Given the description of an element on the screen output the (x, y) to click on. 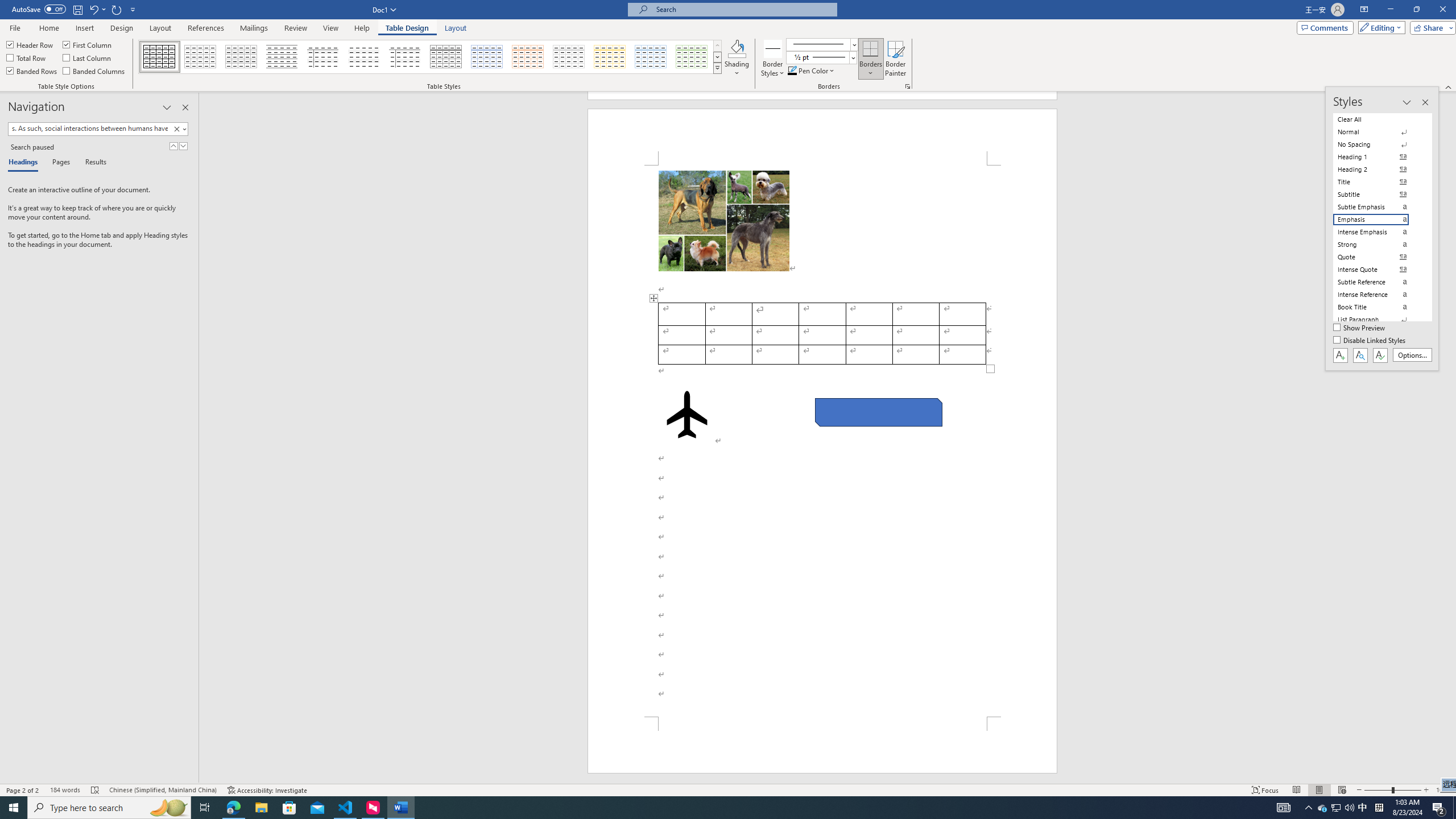
Header Row (30, 44)
Table Styles (717, 67)
Border Styles (773, 48)
Table Grid Light (200, 56)
Plain Table 1 (241, 56)
Clear All (1377, 119)
Plain Table 4 (363, 56)
